Given the description of an element on the screen output the (x, y) to click on. 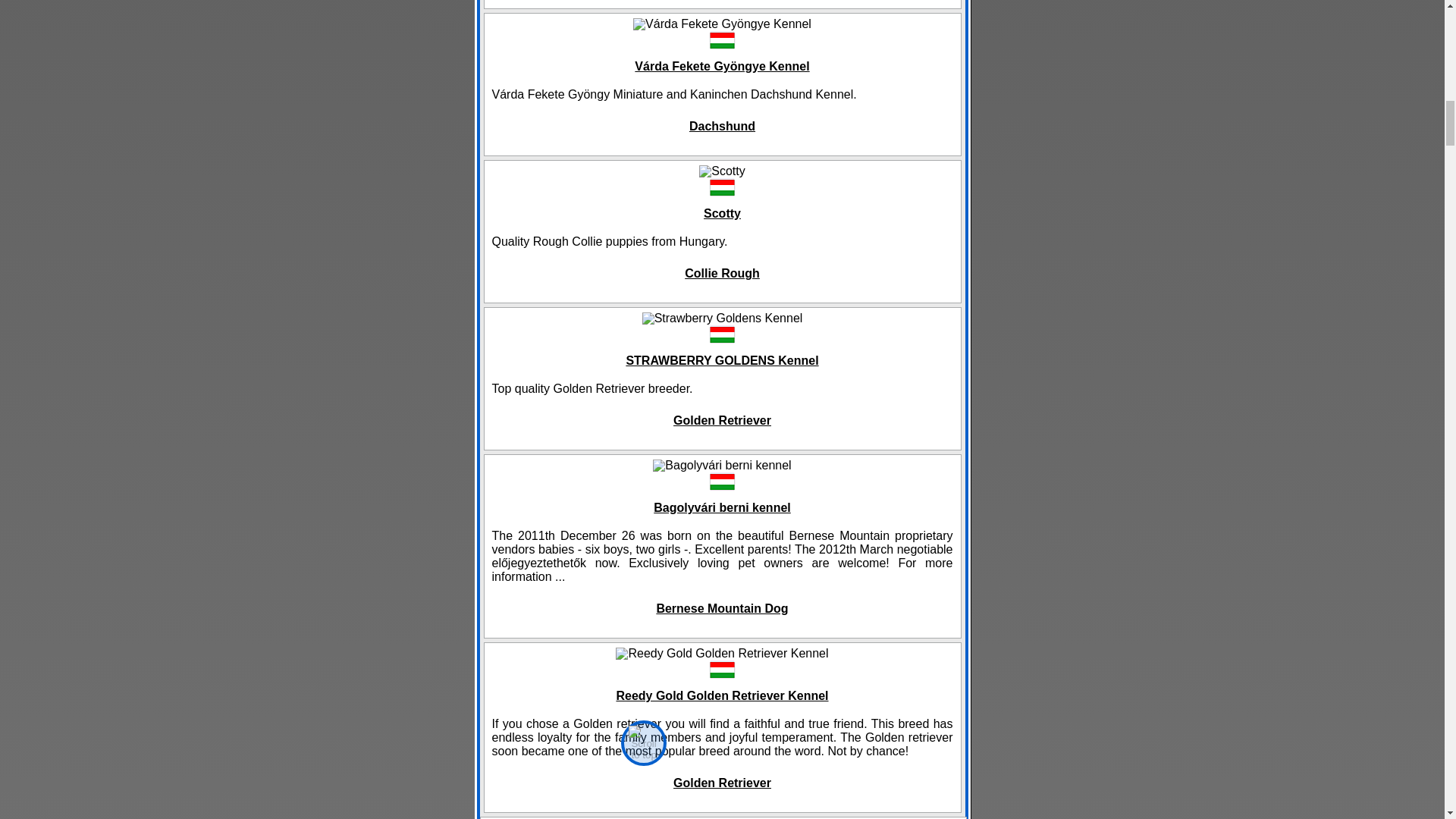
STRAWBERRY GOLDENS Kennel (722, 360)
Golden Retriever (722, 420)
Reedy Gold Golden Retriever Kennel (721, 695)
Scotty (722, 213)
Golden Retriever (722, 782)
Dachshund (722, 126)
Collie Rough (722, 273)
Bernese Mountain Dog (721, 608)
